Given the description of an element on the screen output the (x, y) to click on. 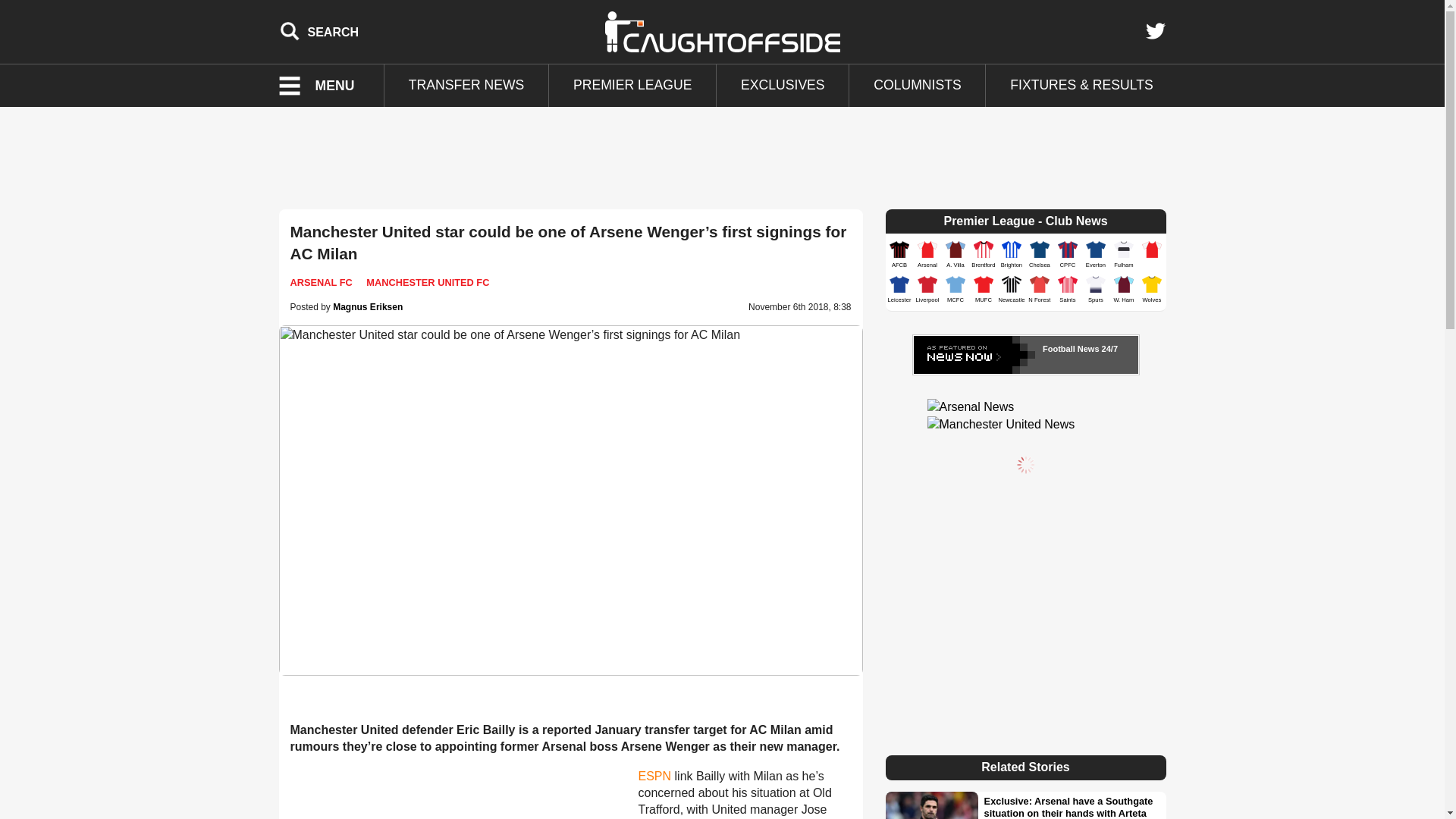
Twitter (1155, 30)
EXCLUSIVES (782, 85)
Menu (325, 85)
Search (319, 30)
TRANSFER NEWS (466, 85)
PREMIER LEAGUE (632, 85)
